Given the description of an element on the screen output the (x, y) to click on. 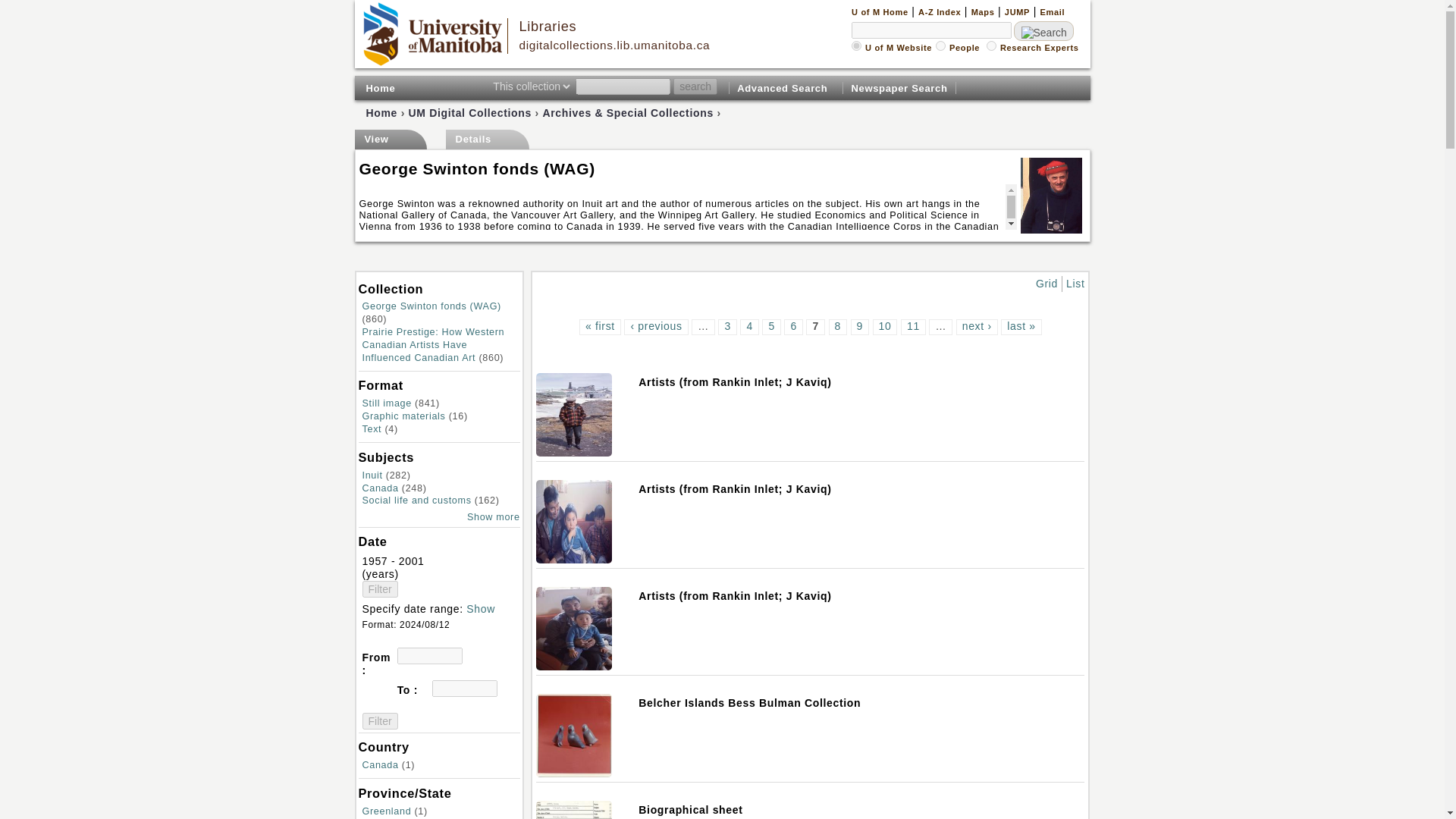
local (856, 45)
List (1074, 283)
UM Libraries (547, 26)
experts (991, 45)
UM Digital Collections (470, 112)
search (694, 86)
10 (885, 326)
A simple output. (1074, 283)
Home (614, 44)
digitalcollections.lib.umanitoba.ca (614, 44)
